Given the description of an element on the screen output the (x, y) to click on. 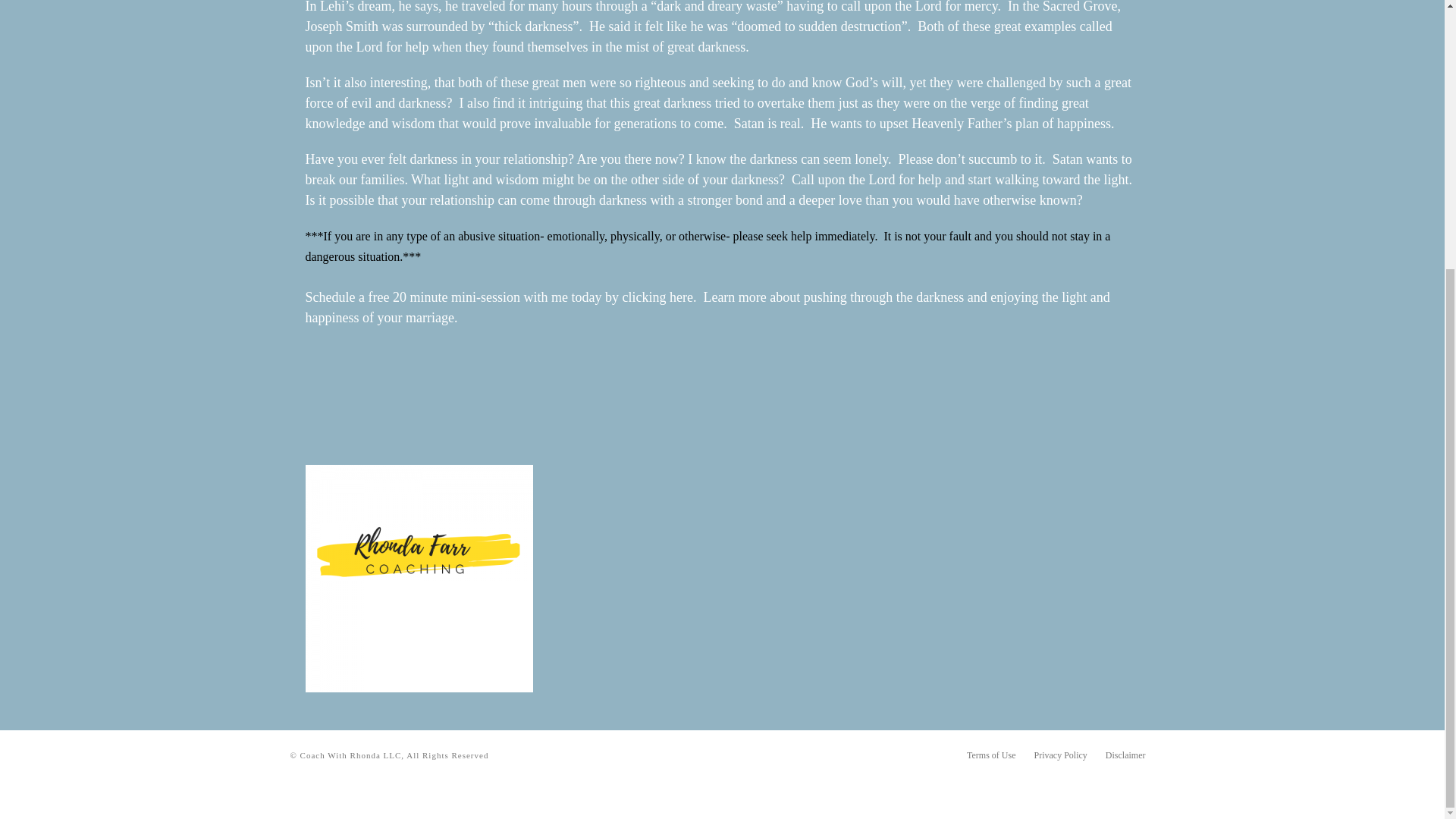
Disclaimer (1125, 755)
Privacy Policy (1060, 755)
Terms of Use (990, 755)
here.  (684, 296)
